Given the description of an element on the screen output the (x, y) to click on. 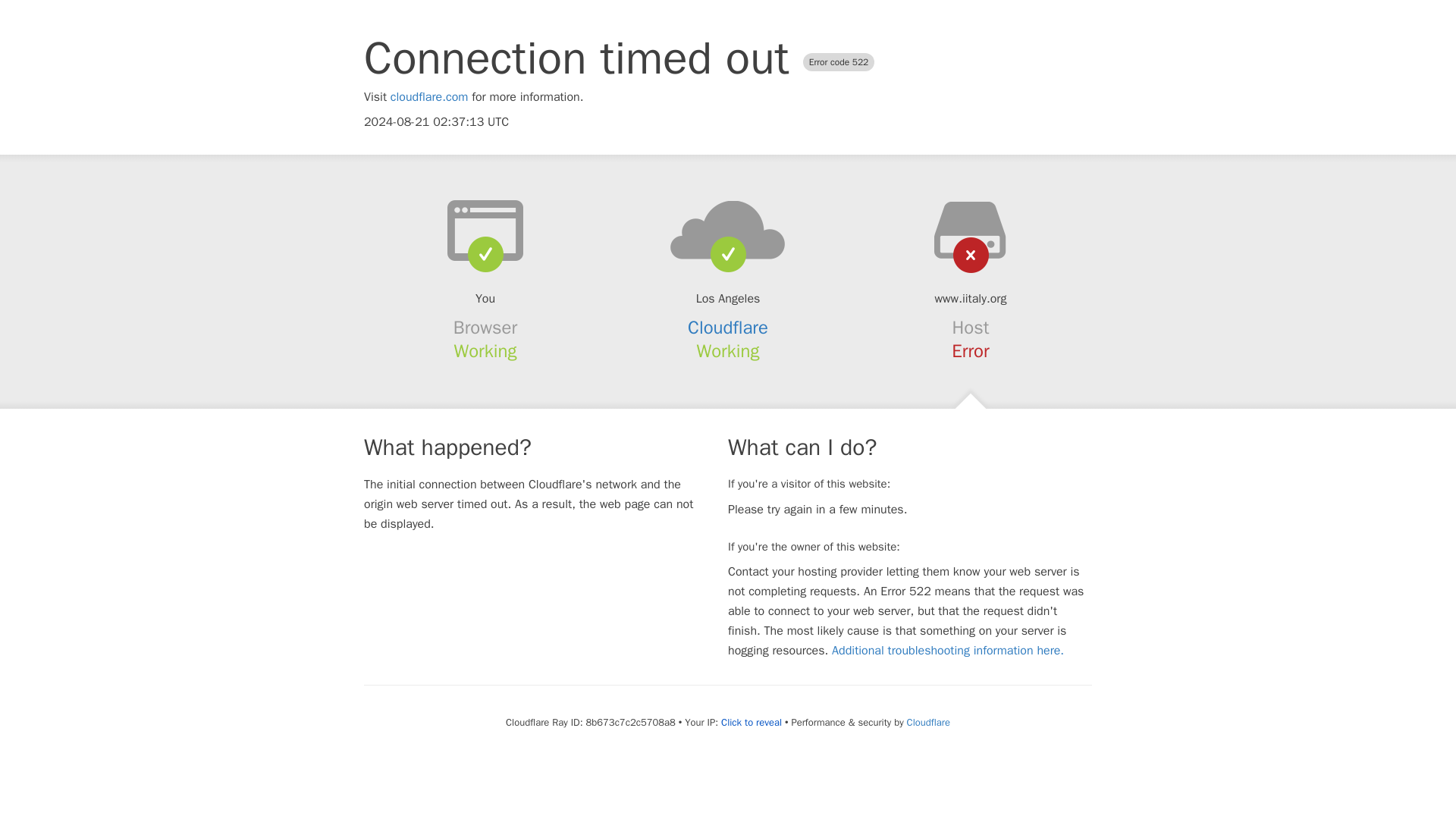
Cloudflare (727, 327)
Cloudflare (928, 721)
Click to reveal (750, 722)
Additional troubleshooting information here. (947, 650)
cloudflare.com (429, 96)
